Given the description of an element on the screen output the (x, y) to click on. 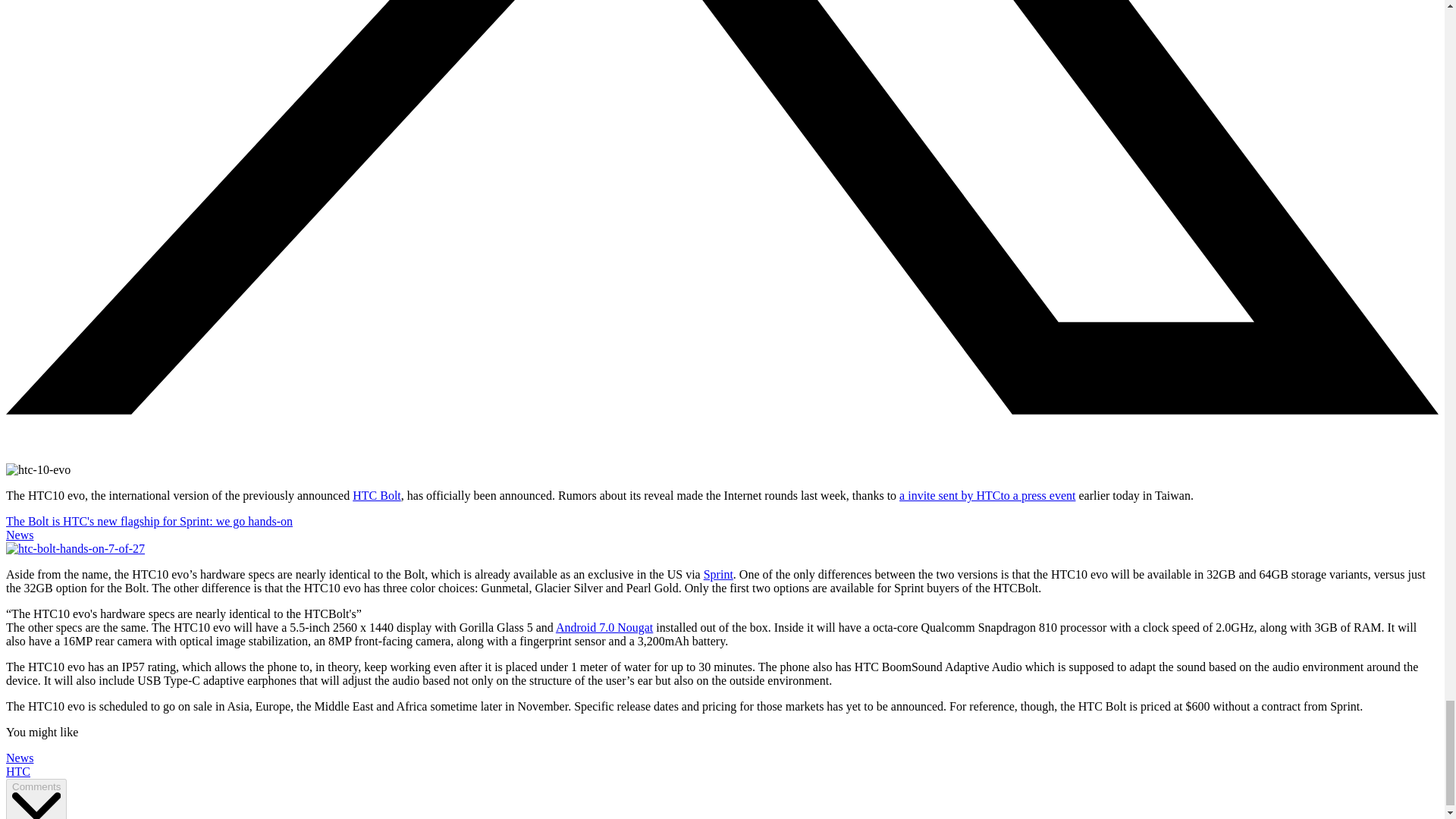
News (19, 757)
htc-bolt-hands-on-7-of-27 (74, 549)
Android 7.0 Nougat (604, 626)
htc-10-evo (37, 469)
HTC (17, 771)
Sprint (718, 574)
a invite sent by HTCto a press event (987, 495)
HTC Bolt (376, 495)
